Given the description of an element on the screen output the (x, y) to click on. 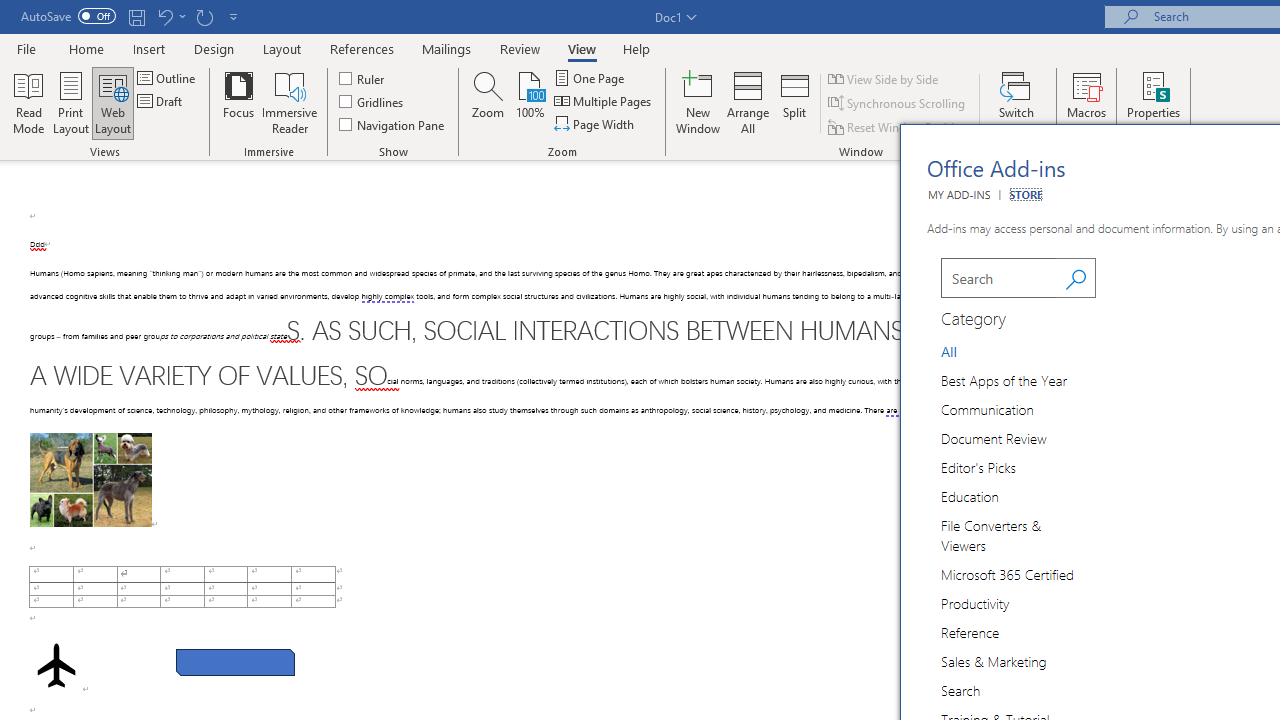
Category Group Best Apps of the Year 2 of 14 (1007, 379)
Category Group Reference 10 of 14 (973, 631)
Navigation Pane (392, 124)
View Macros (1086, 84)
Immersive Reader (289, 102)
Page Width (595, 124)
Multiple Pages (603, 101)
Zoom... (488, 102)
New Window (698, 102)
